Given the description of an element on the screen output the (x, y) to click on. 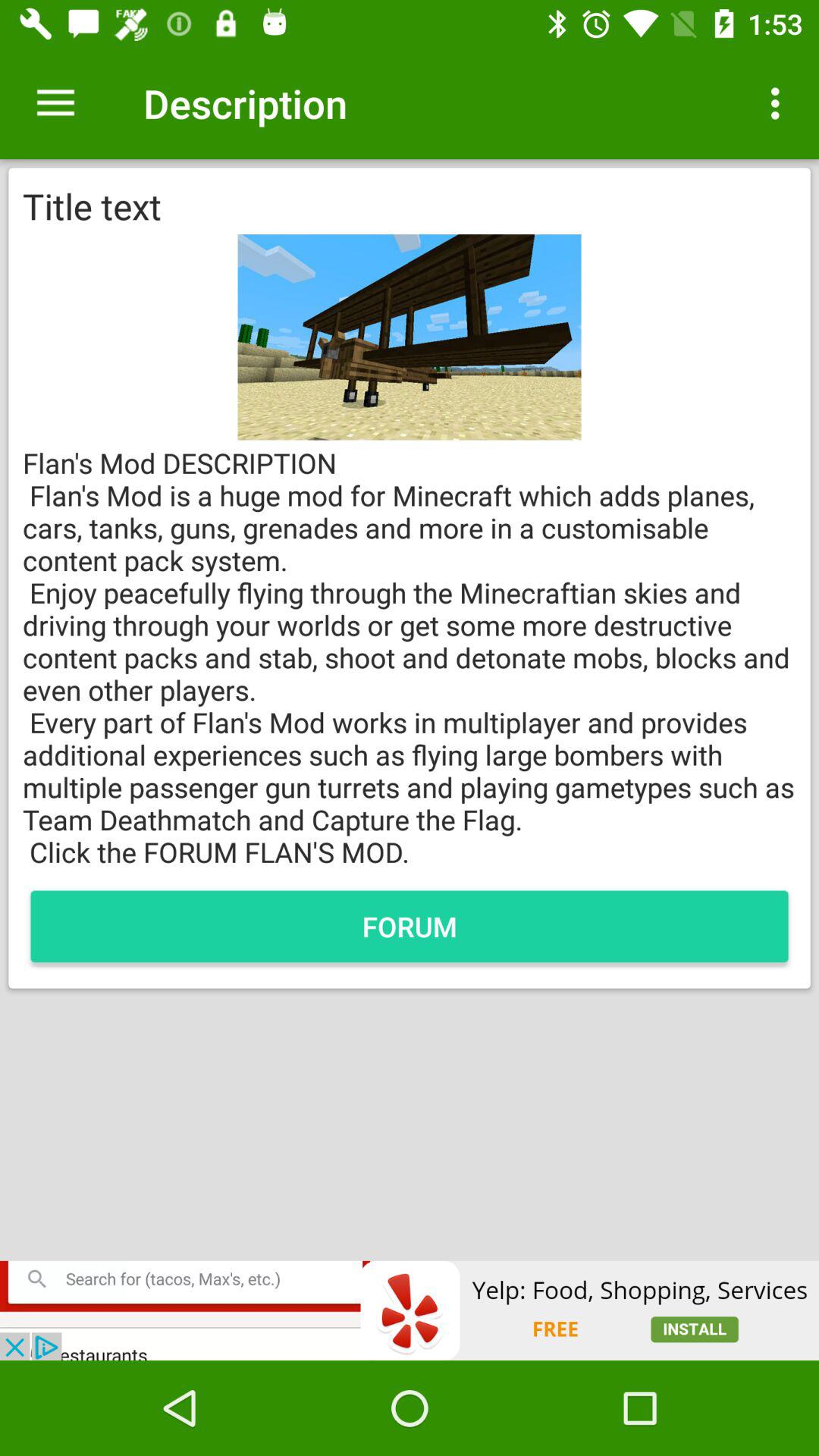
select advertisement (409, 1310)
